Given the description of an element on the screen output the (x, y) to click on. 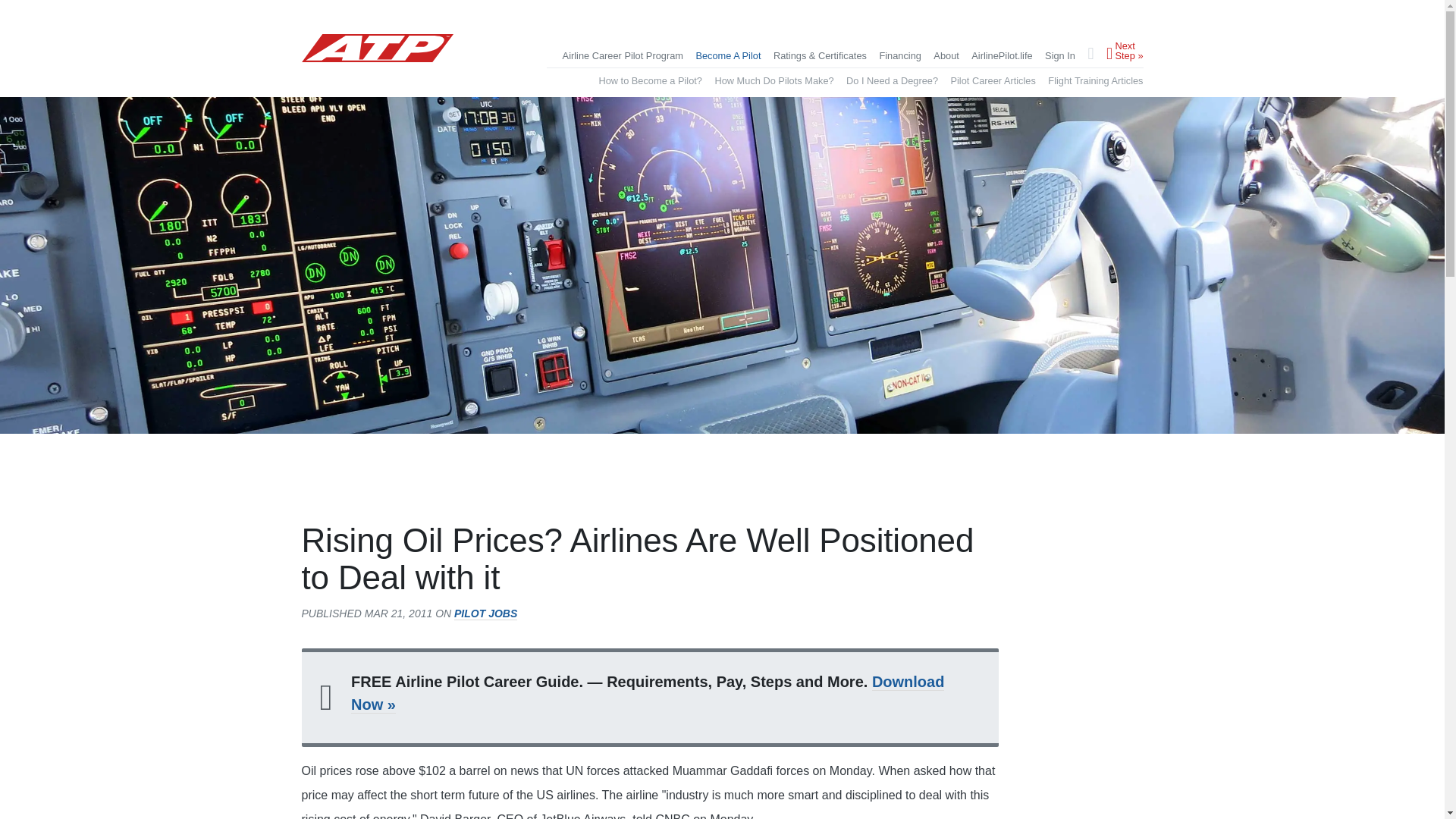
Flight Training Articles (1095, 80)
Pilot Career Articles (992, 80)
Do I Need a Degree? (891, 80)
How to Become a Pilot? (649, 80)
Do I Need a Degree? (891, 80)
ATP Flight School (376, 48)
Airline Career Pilot Program (622, 55)
How Much Do Pilots Make? (773, 80)
How Much Do Pilots Make? (773, 80)
How to Become a Pilot (649, 80)
Become A Pilot - Your Pilot Career Guide (727, 55)
Flight Training Articles (1095, 80)
Pilot Career Articles (992, 80)
Become A Pilot (727, 55)
ATP Flight School (376, 62)
